Given the description of an element on the screen output the (x, y) to click on. 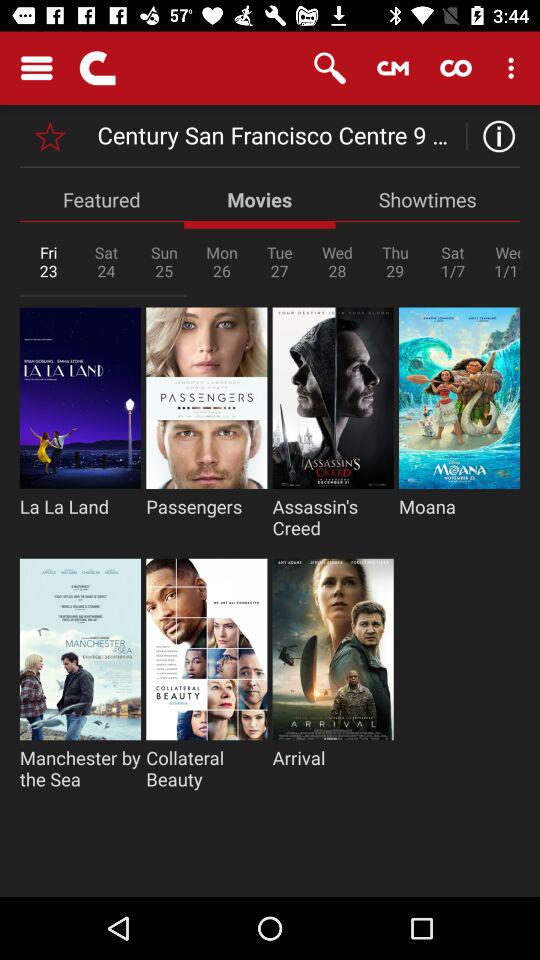
favorite this page (49, 136)
